Given the description of an element on the screen output the (x, y) to click on. 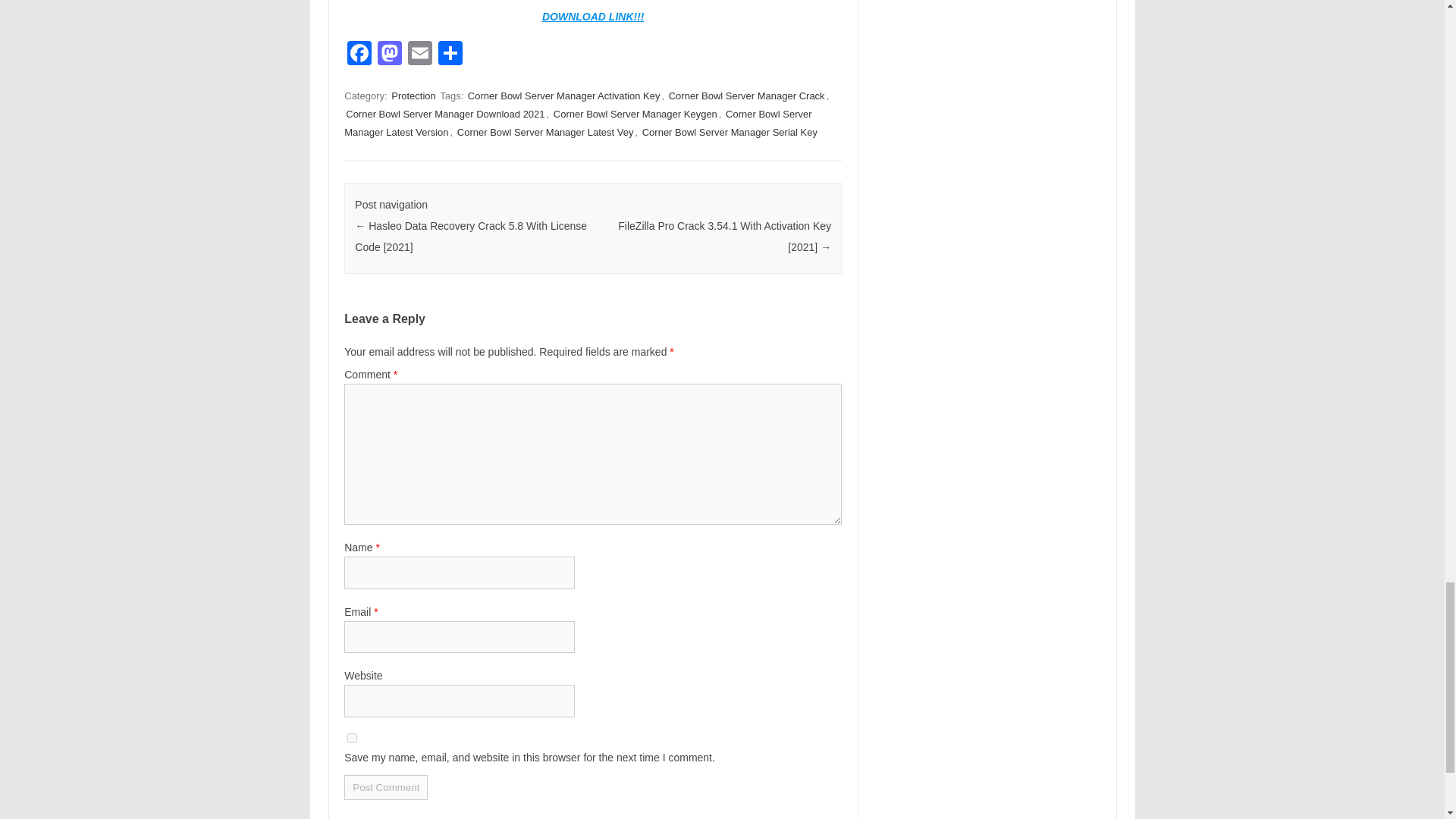
yes (351, 737)
Corner Bowl Server Manager Download 2021 (444, 114)
Protection (414, 95)
Corner Bowl Server Manager Serial Key (729, 132)
Mastodon (389, 54)
Email (419, 54)
Corner Bowl Server Manager Latest Version (576, 123)
Corner Bowl Server Manager Keygen (635, 114)
Facebook (358, 54)
Mastodon (389, 54)
Post Comment (385, 787)
Corner Bowl Server Manager Crack (746, 95)
Corner Bowl Server Manager Latest Vey (544, 132)
Post Comment (385, 787)
Email (419, 54)
